Given the description of an element on the screen output the (x, y) to click on. 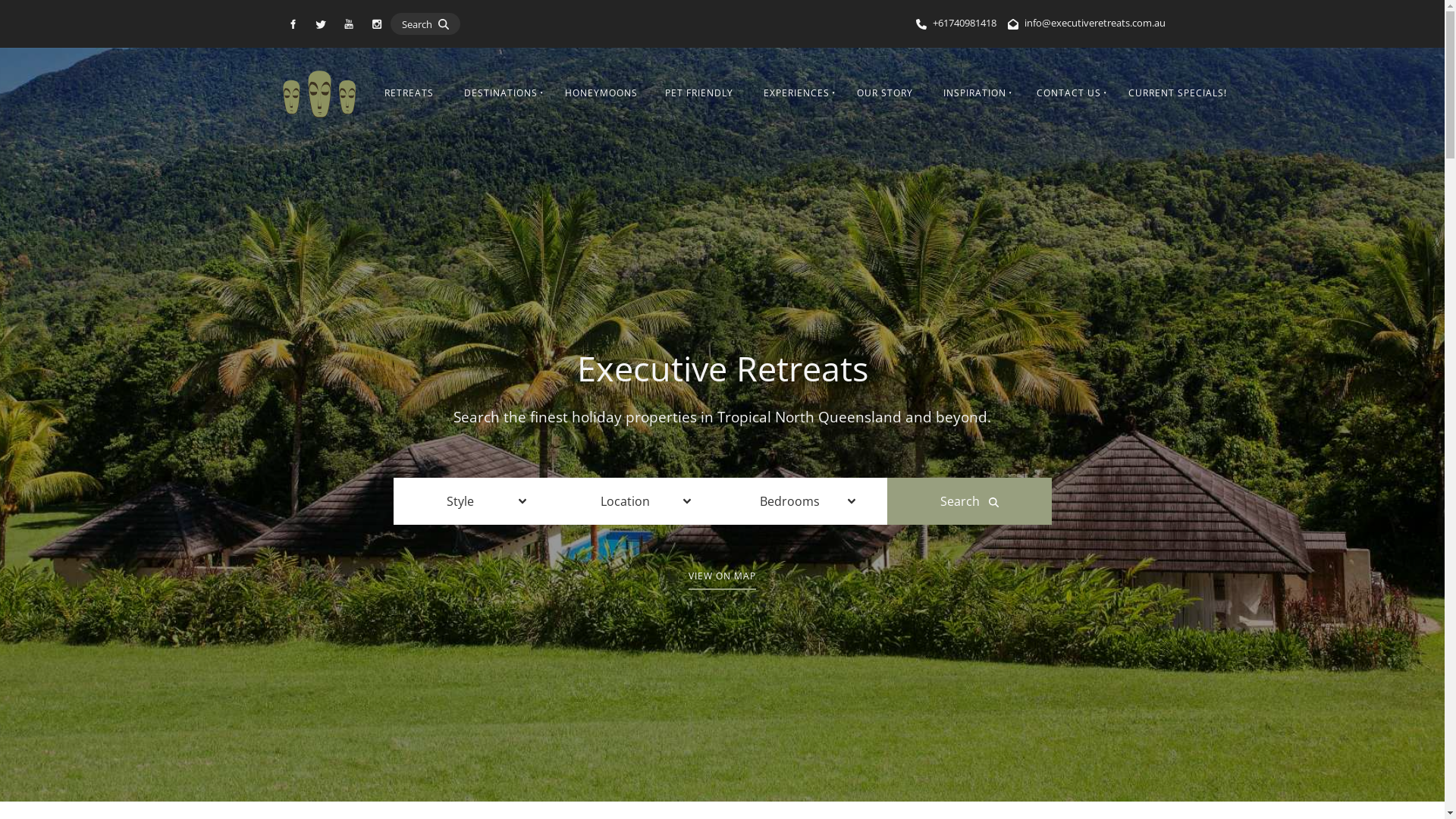
INSPIRATION Element type: text (972, 93)
RETREATS Element type: text (408, 93)
Facebook Element type: hover (292, 23)
Search   Element type: text (969, 500)
Instagram Element type: hover (377, 23)
PET FRIENDLY Element type: text (698, 93)
DESTINATIONS Element type: text (499, 93)
VIEW ON MAP Element type: text (722, 576)
CONTACT US Element type: text (1066, 93)
Twitter Element type: hover (320, 23)
OUR STORY Element type: text (884, 93)
EXPERIENCES Element type: text (794, 93)
HONEYMOONS Element type: text (601, 93)
info@executiveretreats.com.au Element type: text (1093, 21)
Youtube Element type: hover (348, 23)
CURRENT SPECIALS! Element type: text (1177, 93)
